Given the description of an element on the screen output the (x, y) to click on. 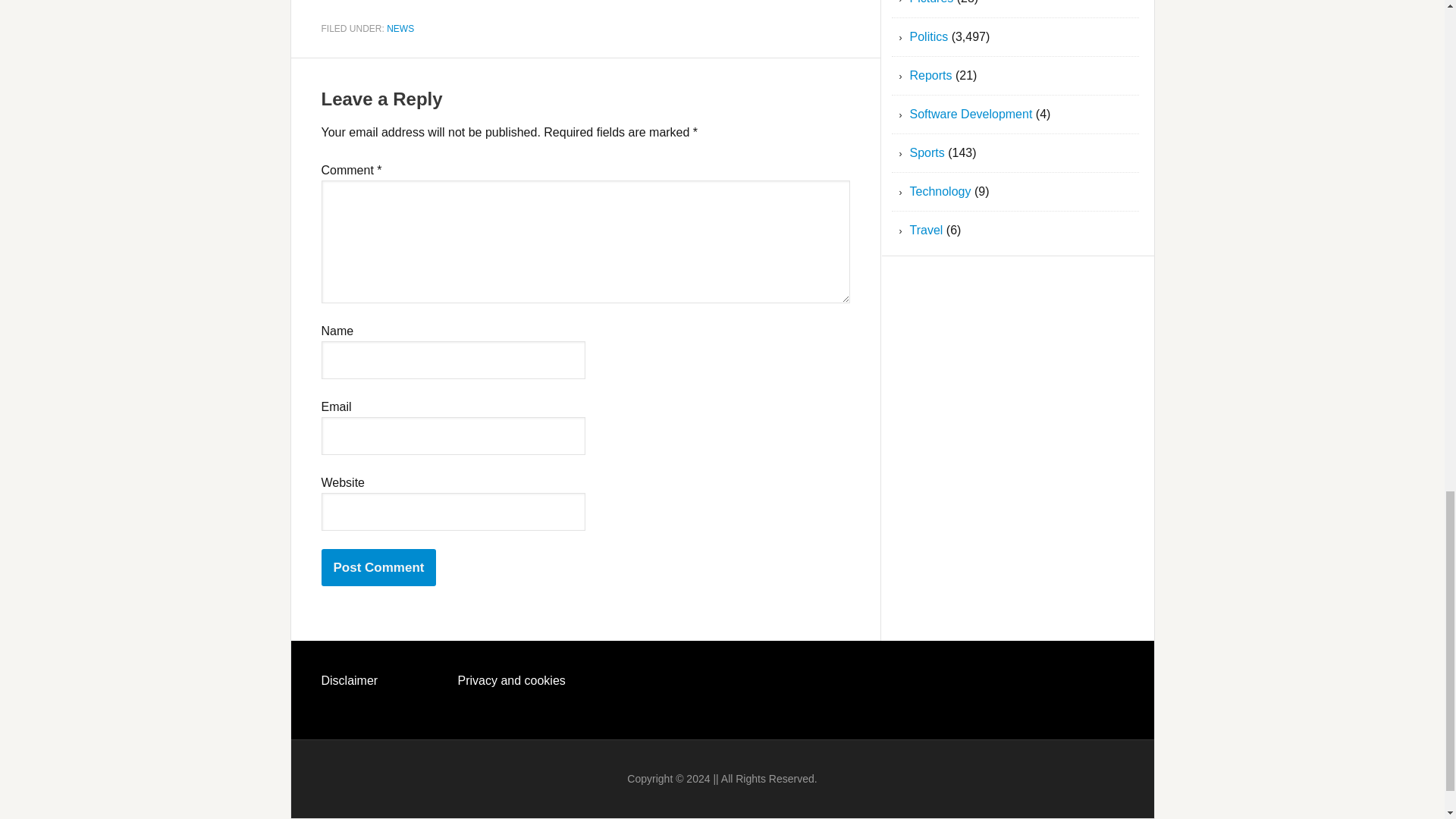
Pictures (931, 2)
Post Comment (378, 567)
Reports (931, 74)
Politics (929, 36)
NEWS (400, 27)
Post Comment (378, 567)
